Given the description of an element on the screen output the (x, y) to click on. 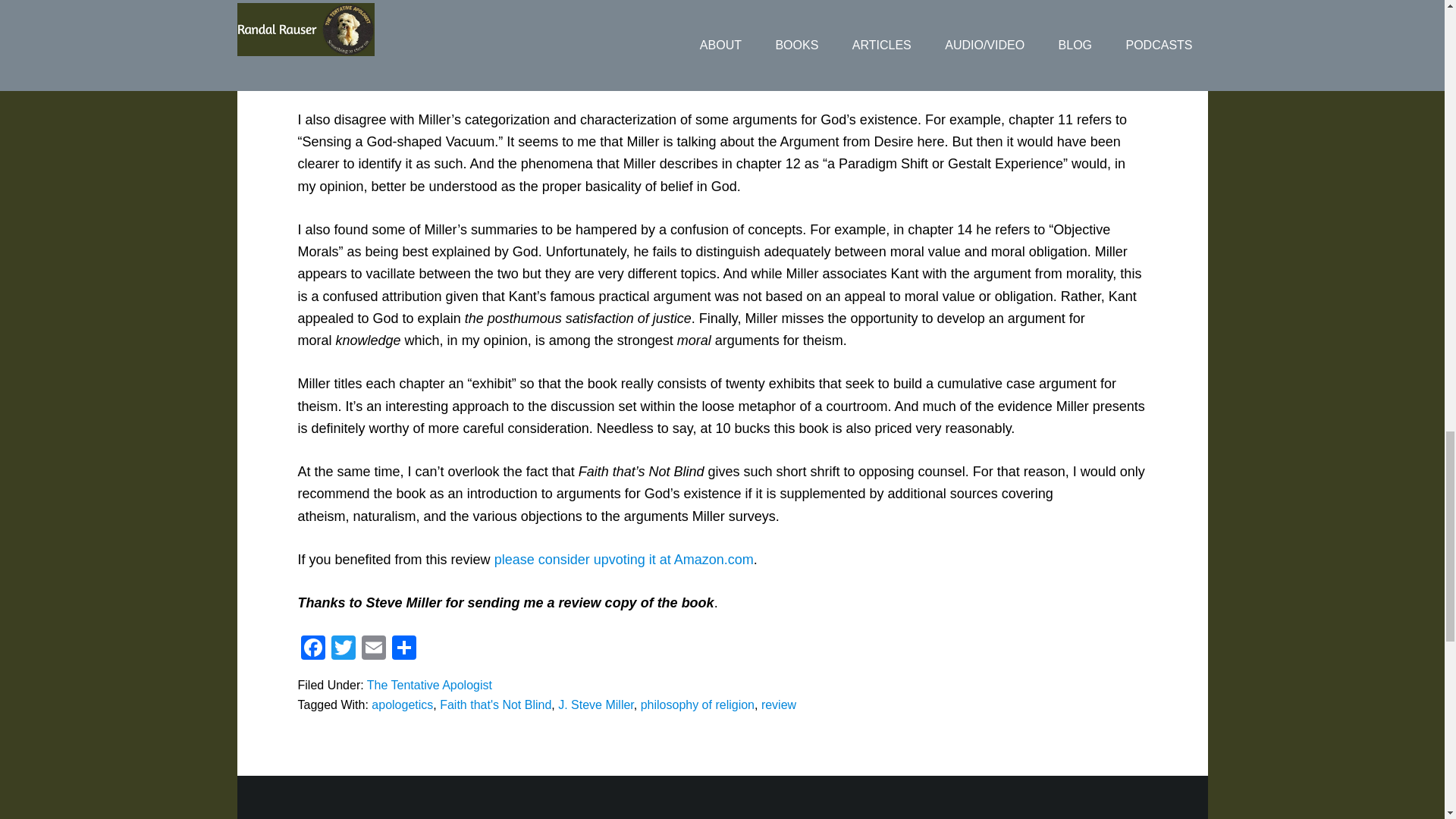
Twitter (342, 649)
The Tentative Apologist (429, 684)
Faith that's Not Blind (495, 704)
Email (373, 649)
philosophy of religion (697, 704)
Facebook (312, 649)
Email (373, 649)
Facebook (312, 649)
J. Steve Miller (595, 704)
review (778, 704)
